Given the description of an element on the screen output the (x, y) to click on. 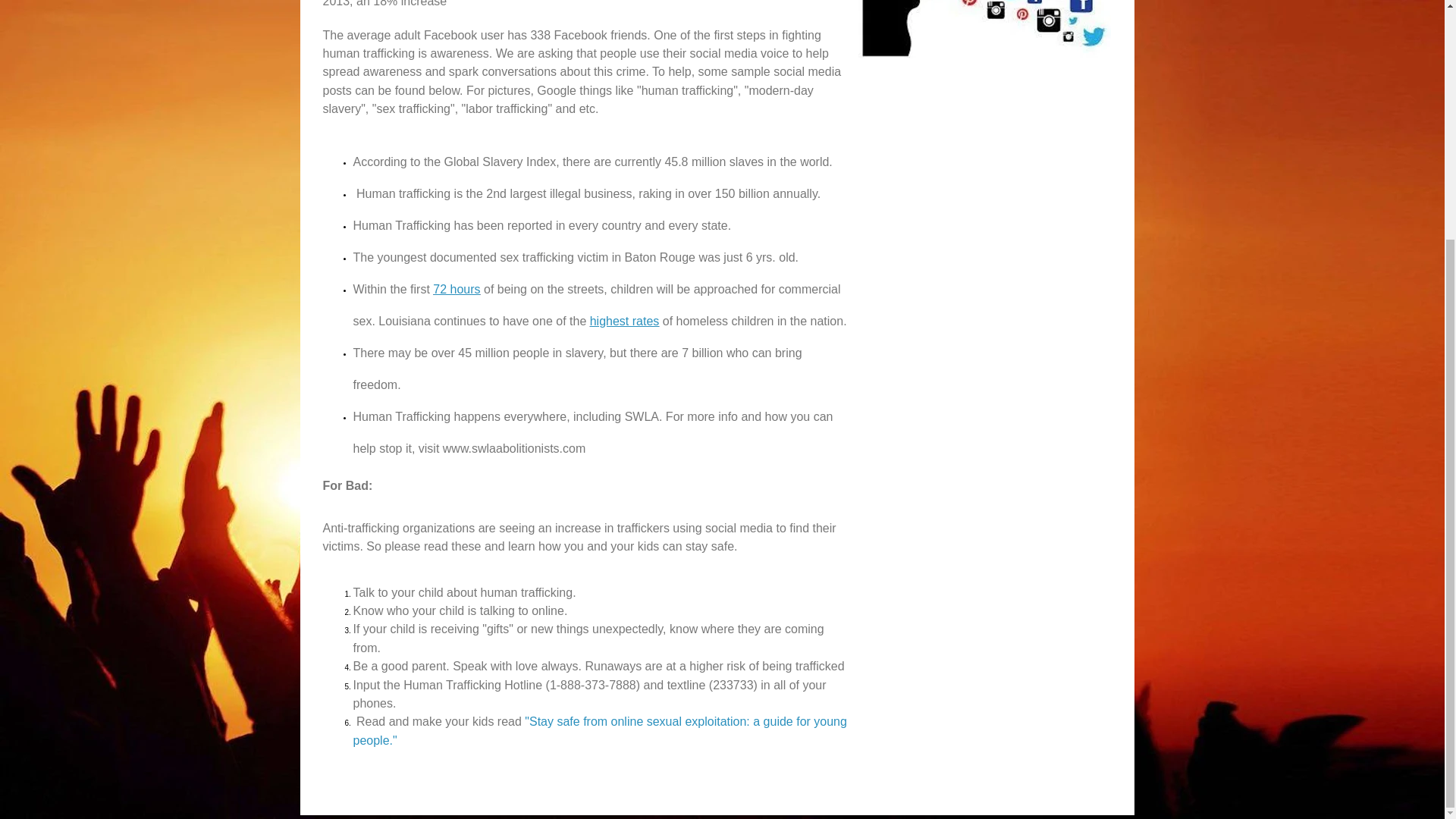
www.swlaabolitionists.com (514, 448)
72 hours (456, 288)
highest rates (624, 320)
